Given the description of an element on the screen output the (x, y) to click on. 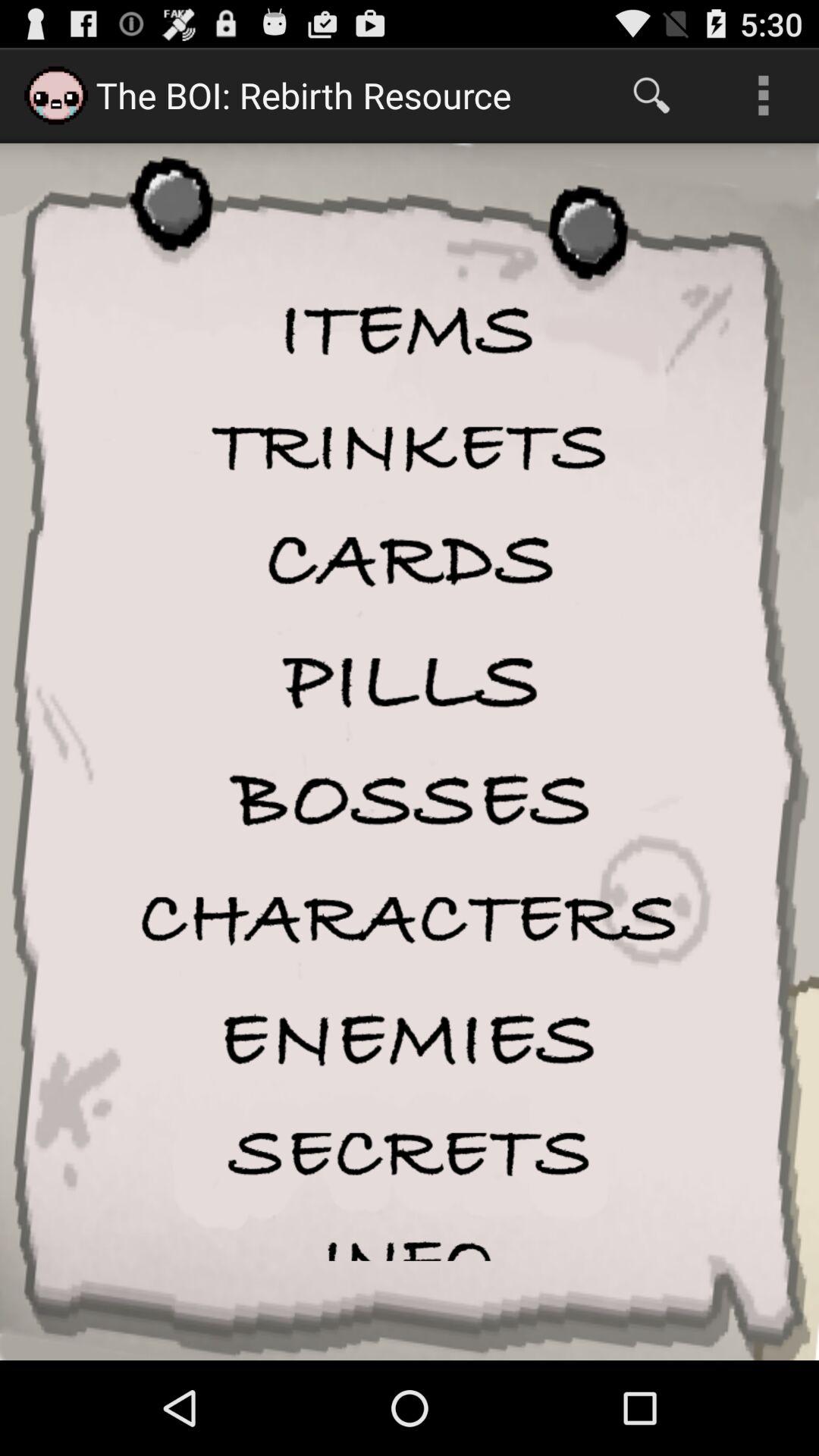
go to secrets menu (409, 1153)
